Given the description of an element on the screen output the (x, y) to click on. 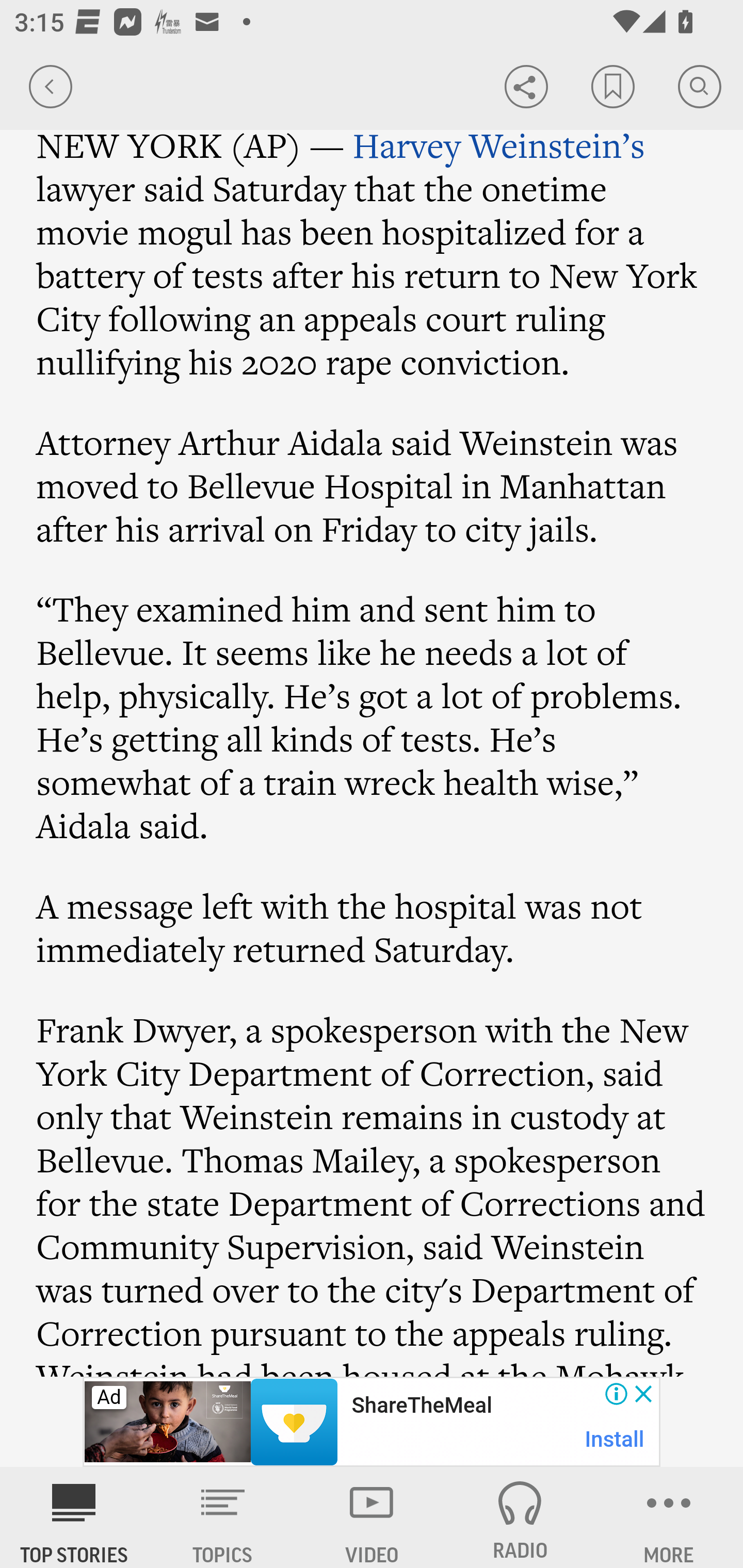
Harvey Weinstein’s (499, 145)
ShareTheMeal (420, 1405)
Install (614, 1438)
AP News TOP STORIES (74, 1517)
TOPICS (222, 1517)
VIDEO (371, 1517)
RADIO (519, 1517)
MORE (668, 1517)
